Given the description of an element on the screen output the (x, y) to click on. 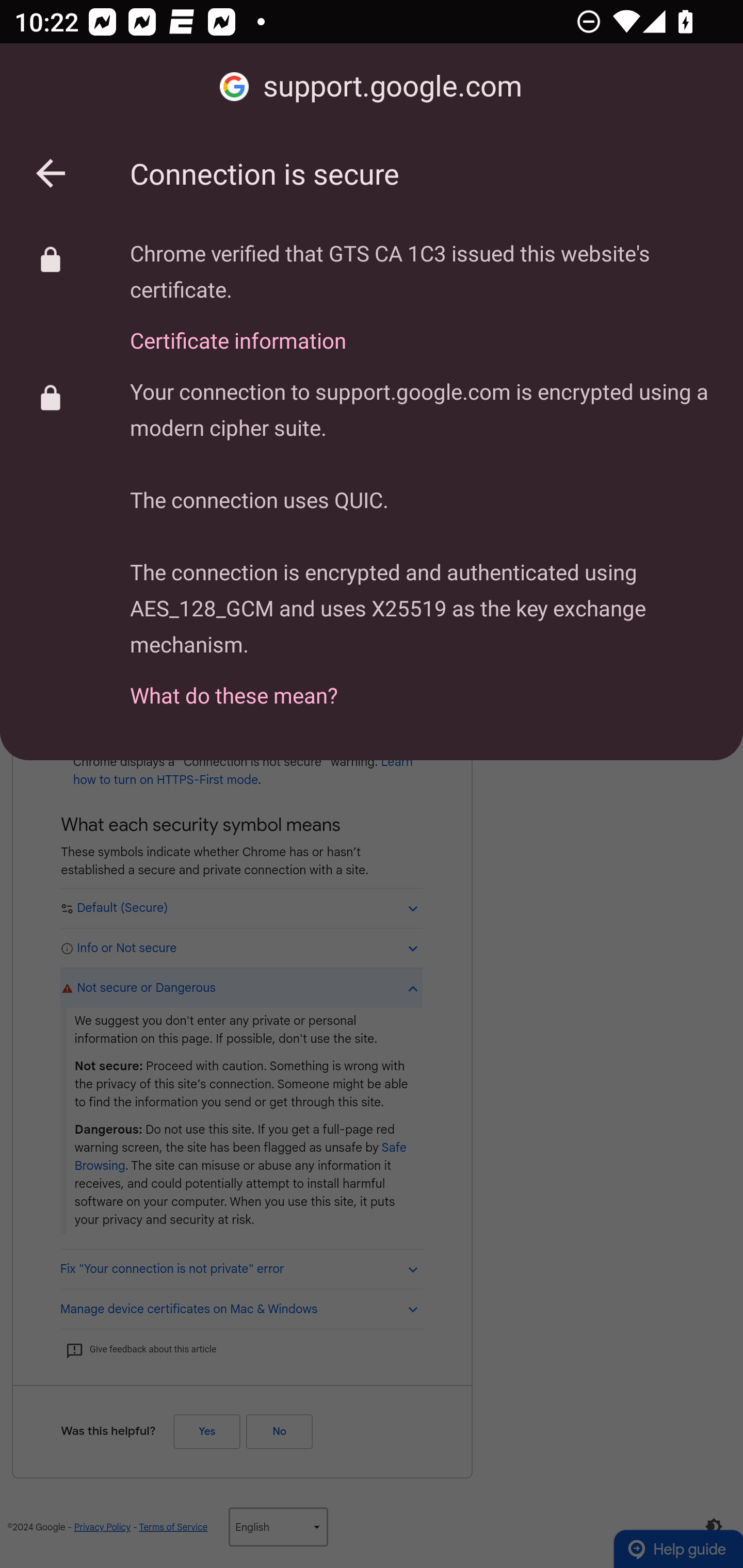
support.google.com (371, 86)
Back (50, 173)
Certificate information (422, 329)
What do these mean? (422, 684)
